Given the description of an element on the screen output the (x, y) to click on. 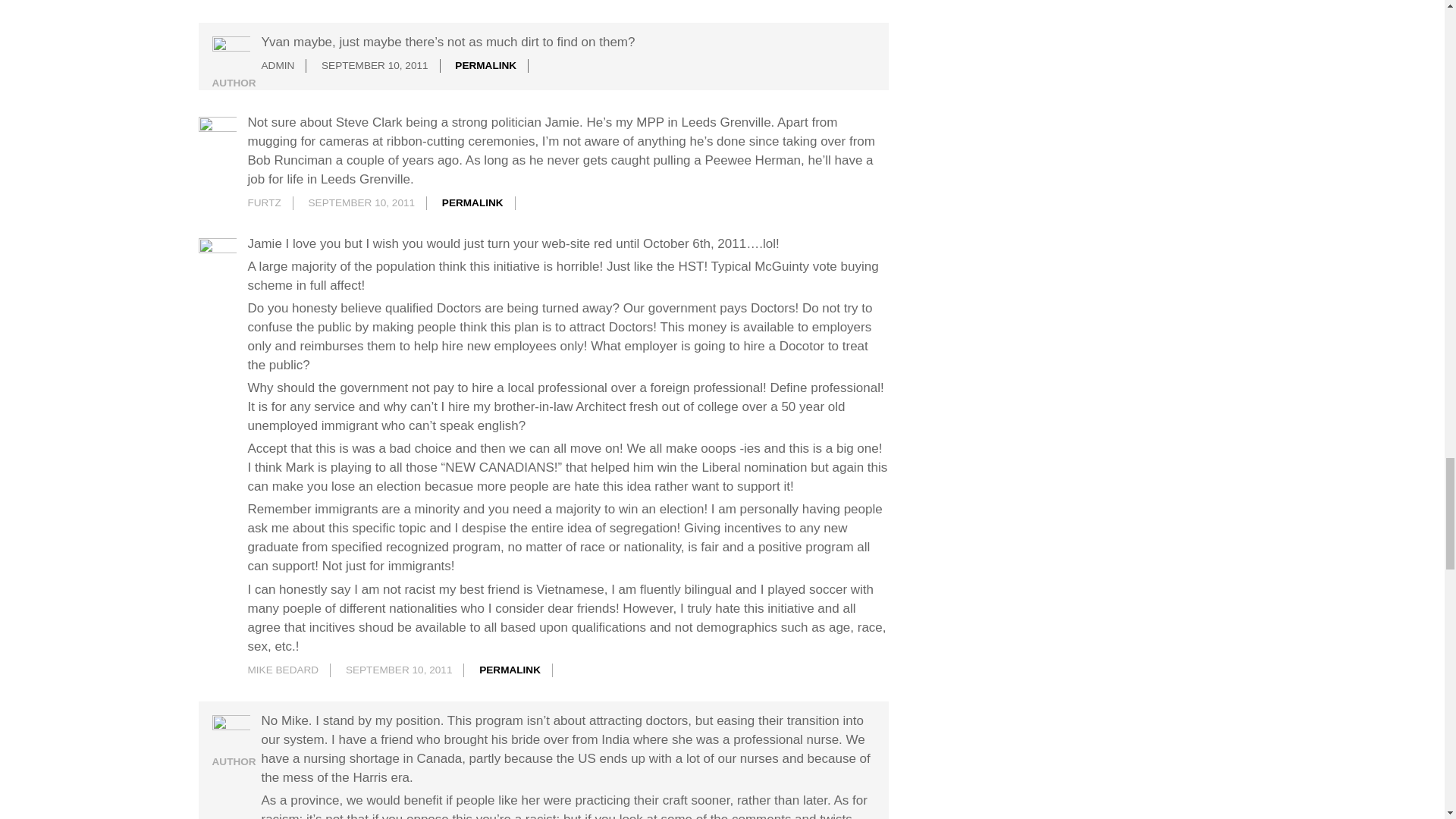
Saturday, September 10, 2011, 10:47 pm (399, 669)
Saturday, September 10, 2011, 7:23 pm (361, 202)
Saturday, September 10, 2011, 5:17 pm (374, 65)
